Given the description of an element on the screen output the (x, y) to click on. 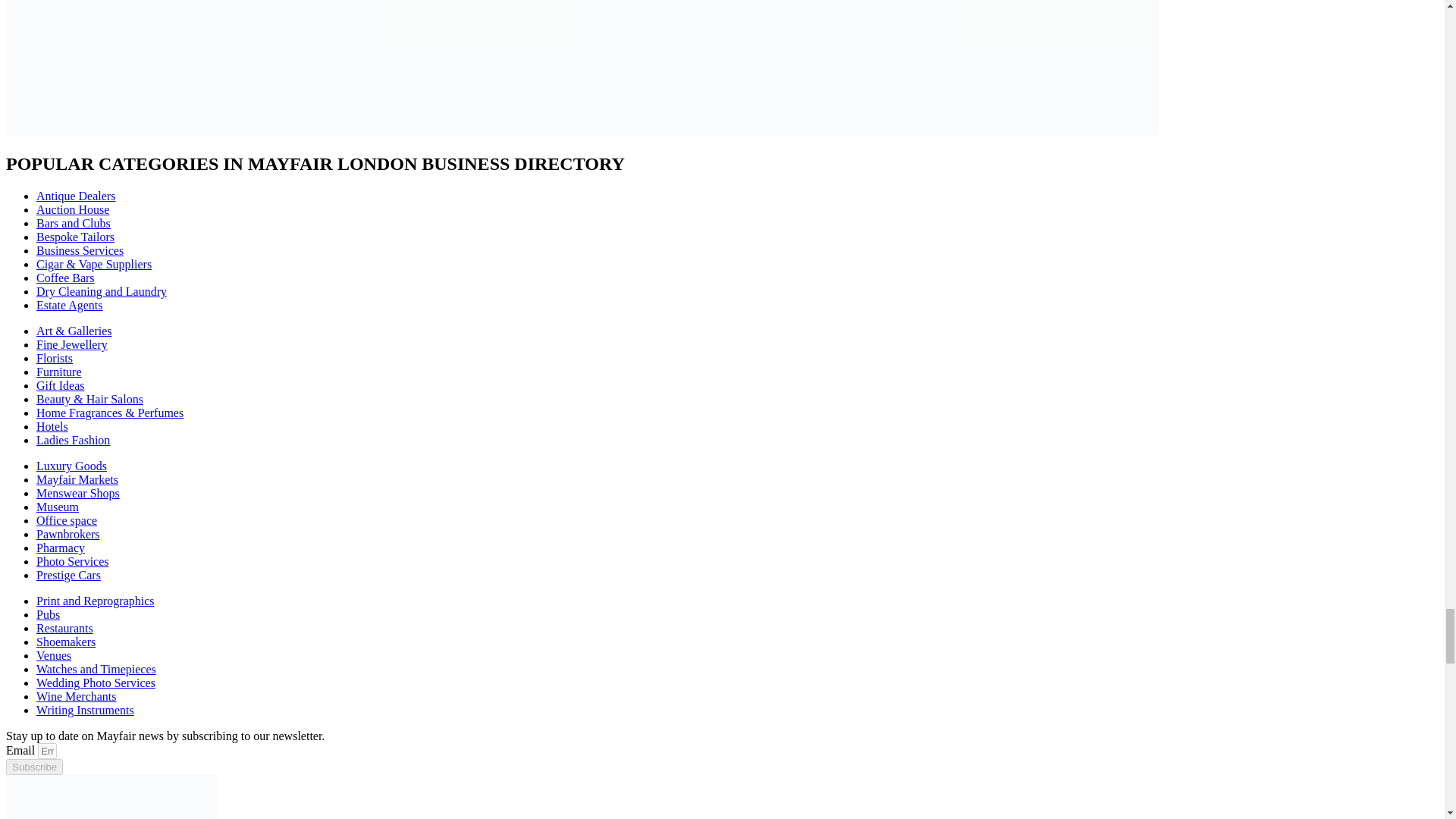
bespoke-Engagement-rigns (1014, 67)
Wedding-Rings (149, 67)
Online-Wine-Shop (438, 67)
Cartier (726, 67)
Logo-Light.png (111, 796)
